Given the description of an element on the screen output the (x, y) to click on. 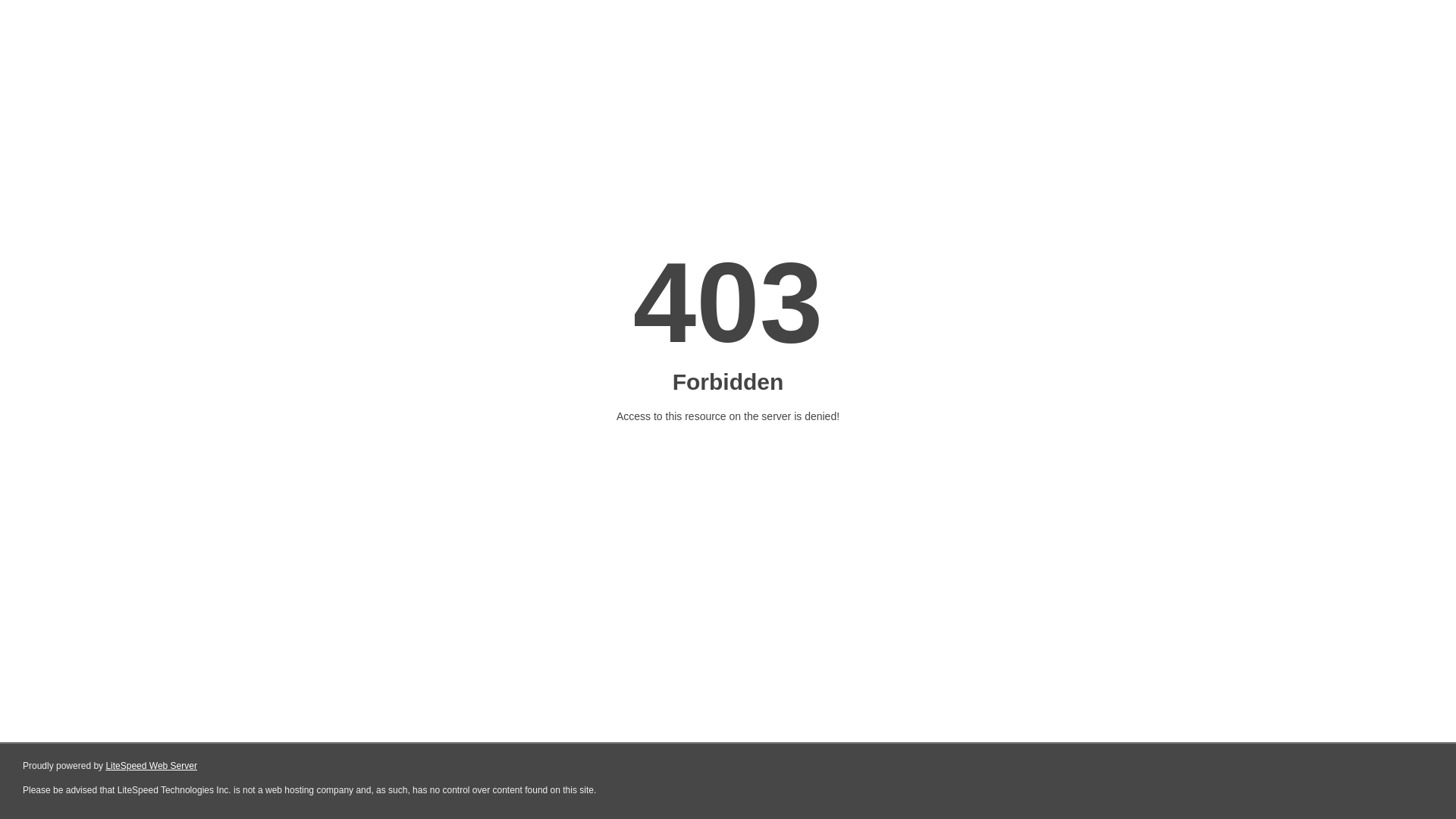
LiteSpeed Web Server Element type: text (151, 765)
